Given the description of an element on the screen output the (x, y) to click on. 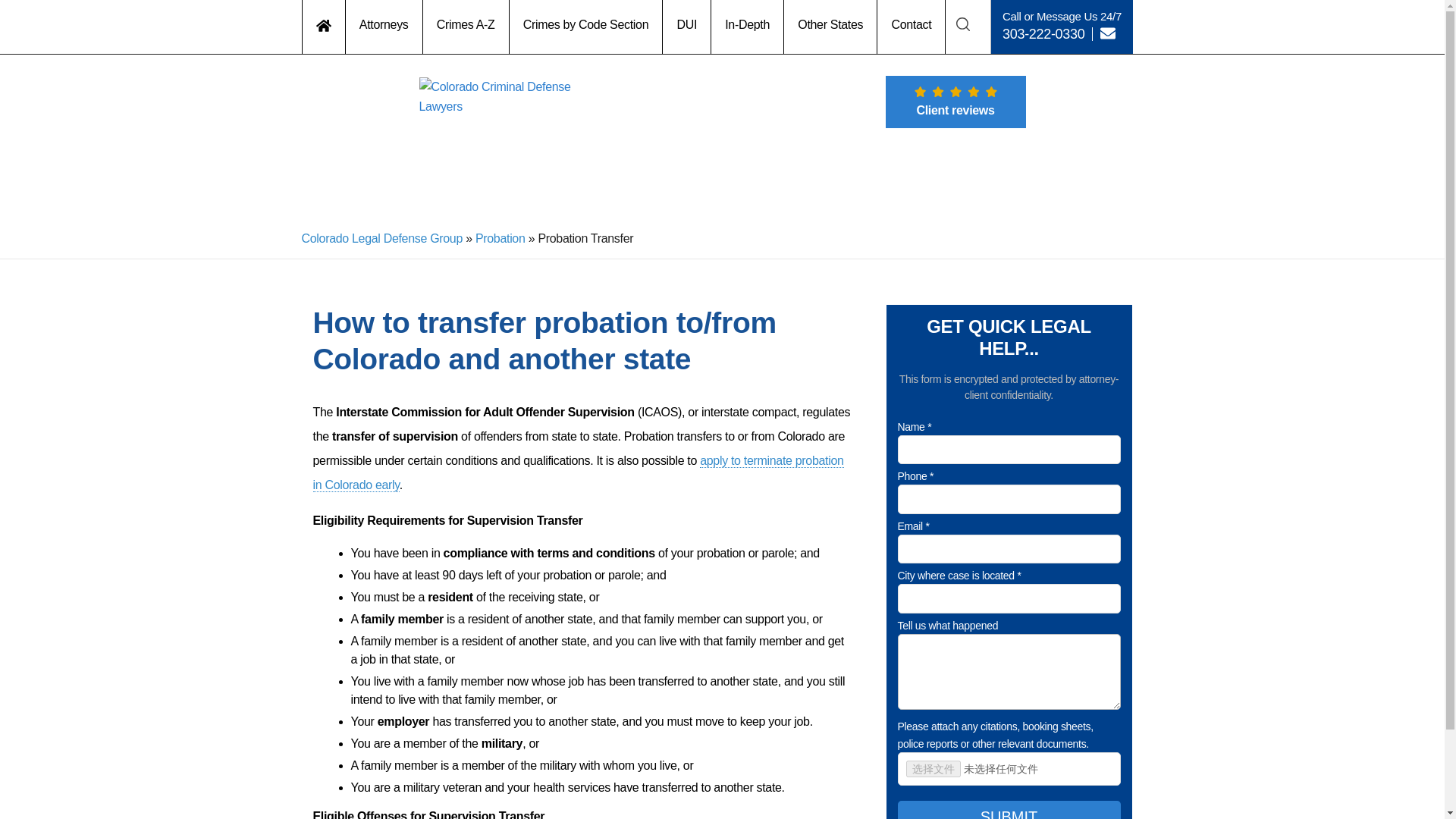
Other States (830, 27)
In-Depth (747, 27)
Submit (716, 549)
DUI (686, 27)
Colorado Legal Defense Group (382, 237)
Crimes A-Z (466, 27)
Client reviews (955, 101)
Crimes by Code Section (586, 27)
Probation (500, 237)
apply to terminate probation in Colorado early (578, 473)
Colorado Legal Defense Group (382, 237)
Attorneys (384, 27)
Submit (1009, 809)
303-222-0330 (1043, 33)
Probation (500, 237)
